Given the description of an element on the screen output the (x, y) to click on. 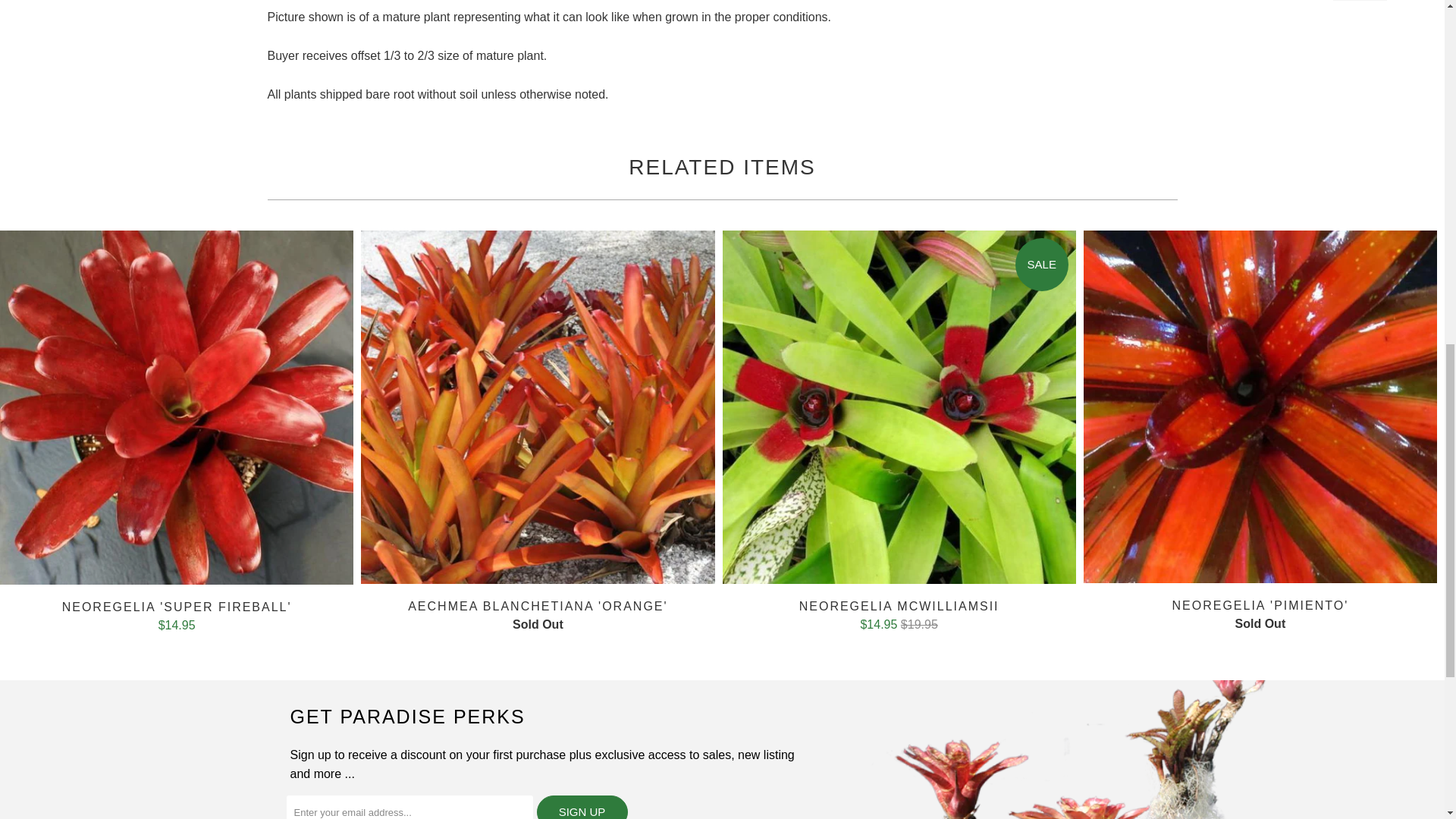
Sign Up (582, 807)
